Given the description of an element on the screen output the (x, y) to click on. 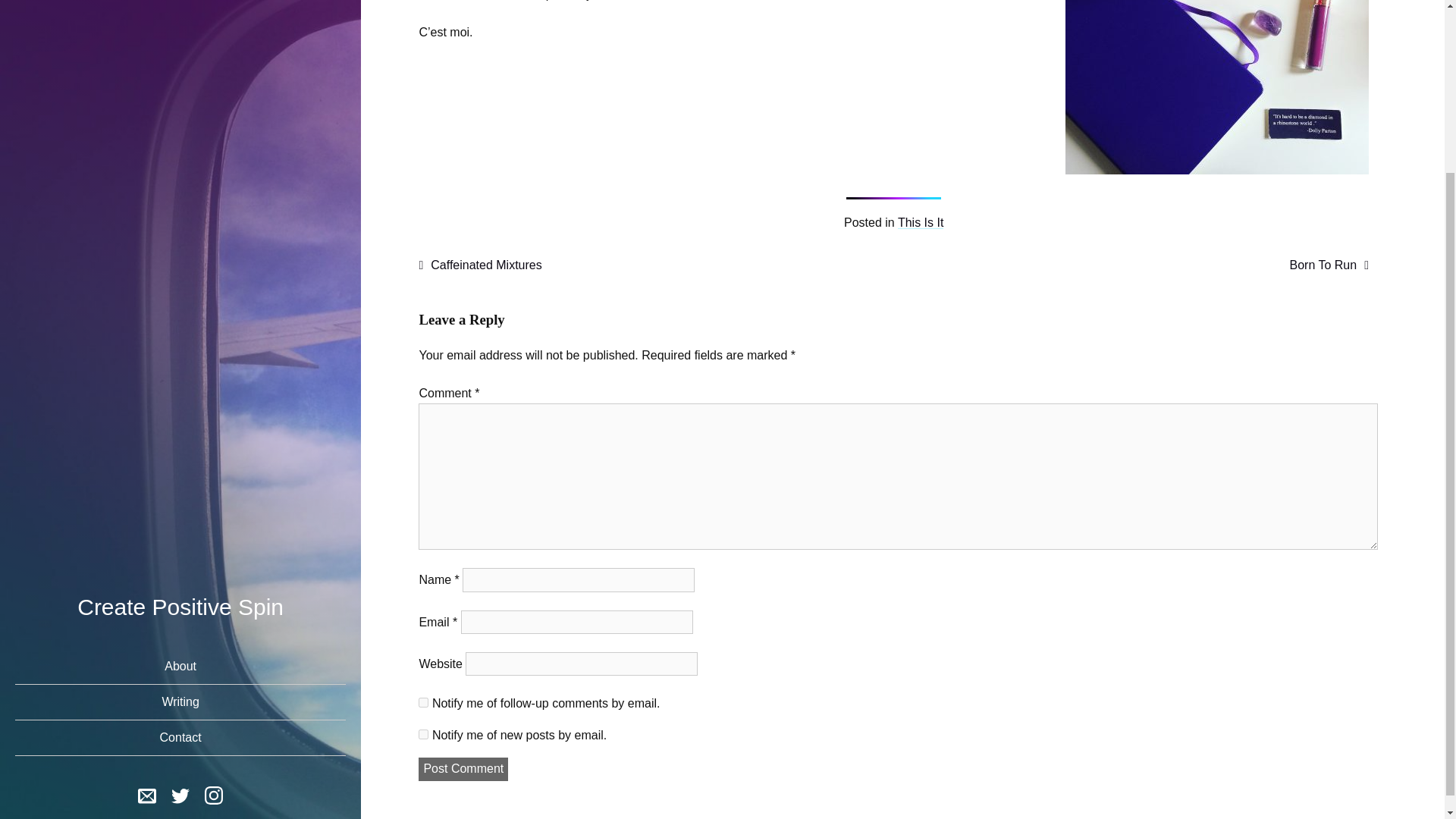
About (180, 452)
This Is It (920, 222)
Create Positive Spin (180, 392)
Contact (180, 524)
Writing (180, 488)
instagram (213, 580)
twitter (180, 580)
subscribe (423, 734)
Born To Run (1328, 264)
instagram (213, 584)
twitter (180, 584)
subscribe (423, 702)
Post Comment (463, 769)
Caffeinated Mixtures (480, 264)
Post Comment (463, 769)
